Given the description of an element on the screen output the (x, y) to click on. 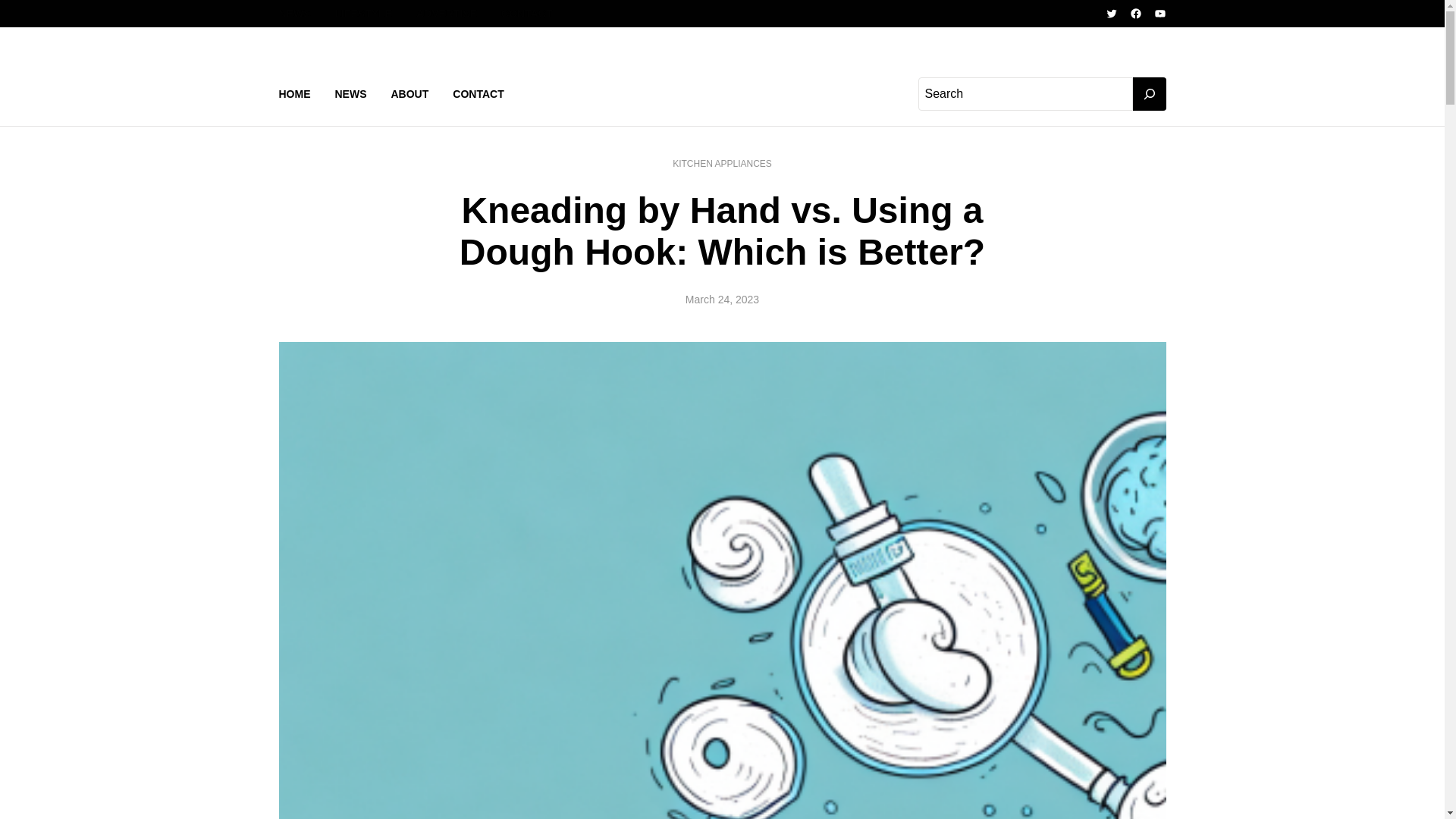
CONTACT (477, 93)
Facebook (1135, 13)
HOME (295, 93)
ADVERTISE (446, 13)
Twitter (1111, 13)
LIFESTYLE (362, 13)
KITCHEN APPLIANCES (721, 163)
CONTACT (525, 13)
NEWS (350, 93)
NEWS (295, 13)
YouTube (1160, 13)
ABOUT (410, 93)
